Given the description of an element on the screen output the (x, y) to click on. 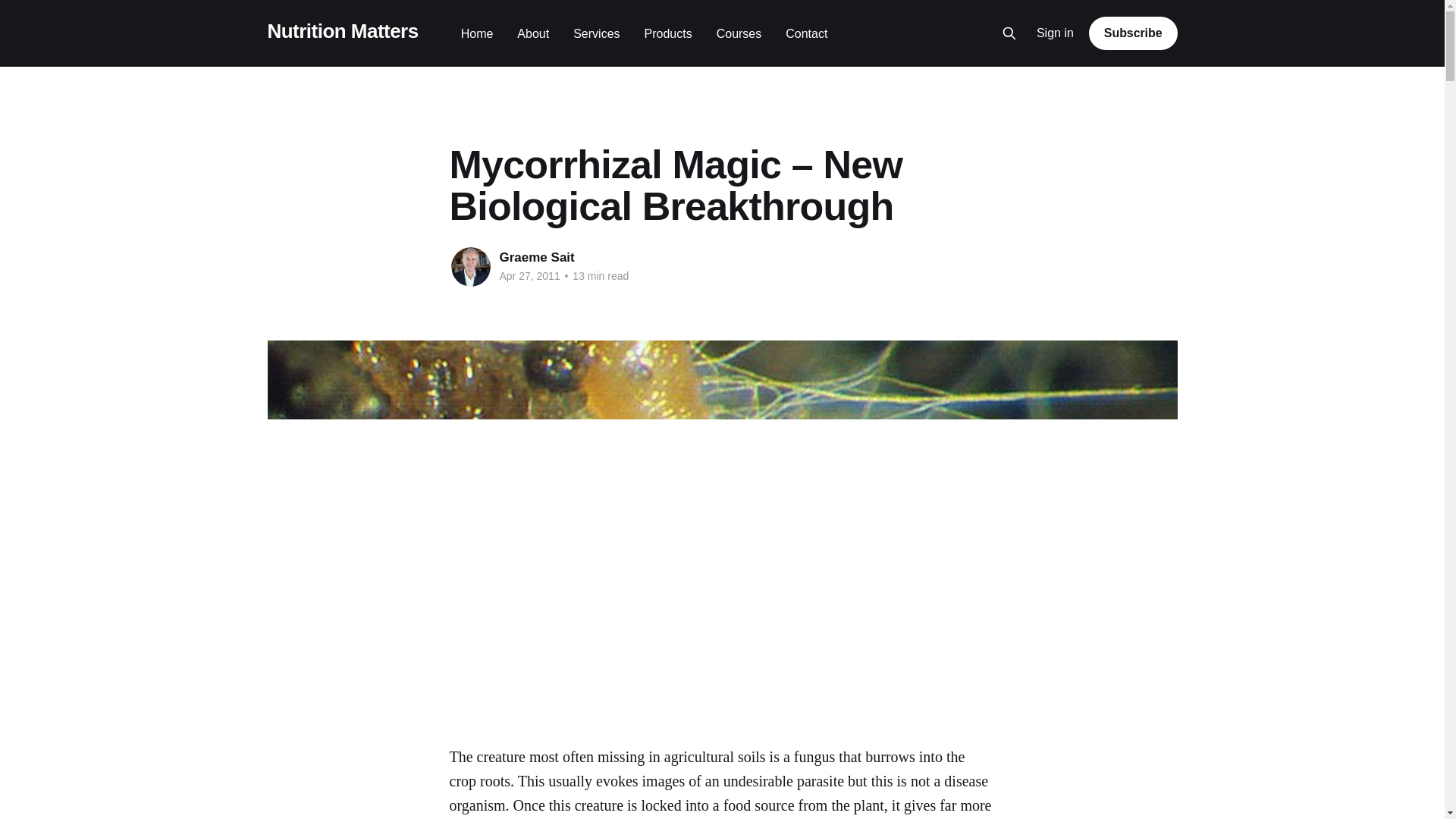
Graeme Sait (536, 257)
About (532, 33)
Services (596, 33)
Products (669, 33)
Sign in (1055, 33)
Contact (806, 33)
Subscribe (1133, 32)
Home (477, 33)
Courses (738, 33)
Nutrition Matters (341, 31)
